Given the description of an element on the screen output the (x, y) to click on. 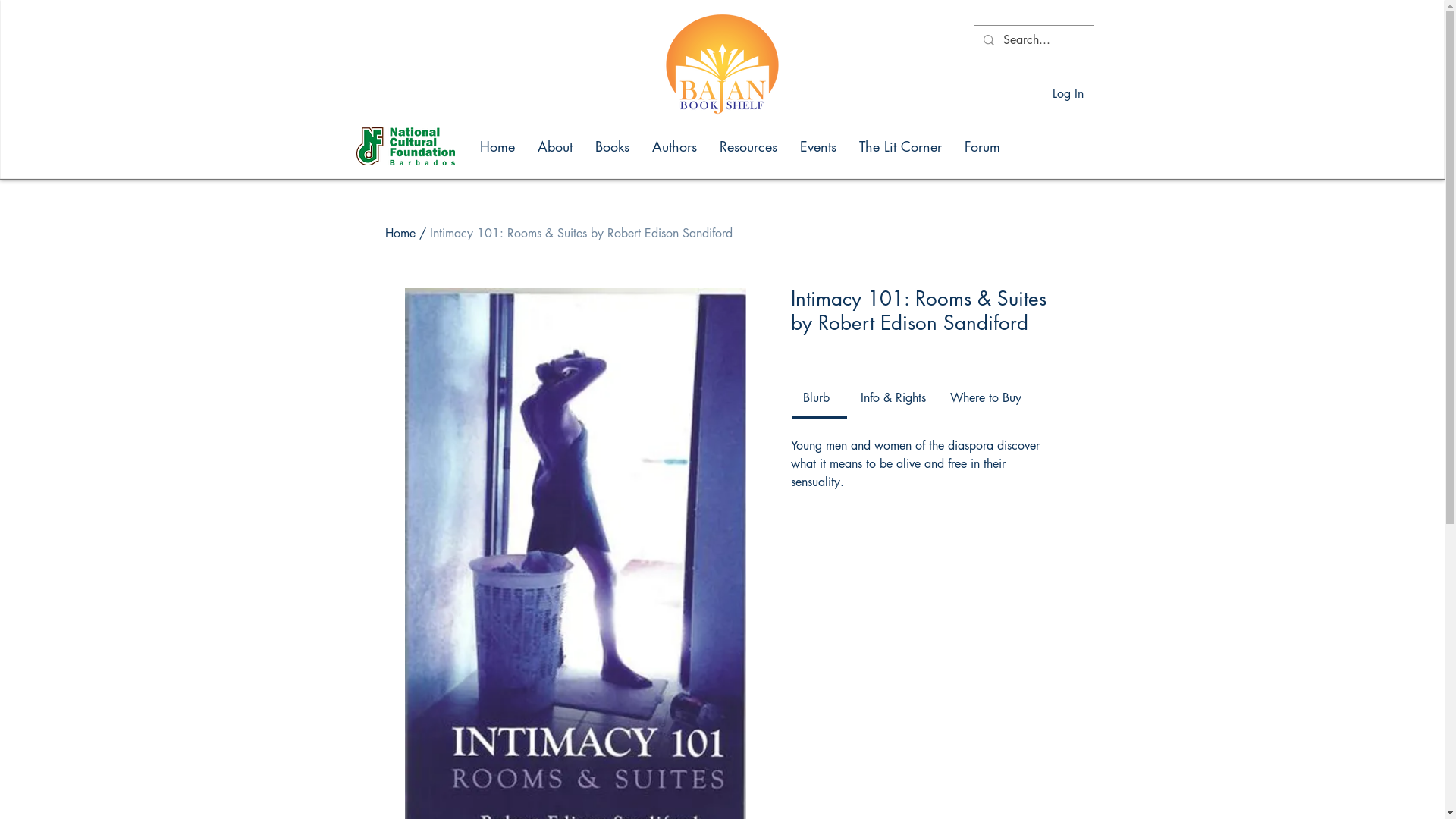
Events Element type: text (817, 146)
The Lit Corner Element type: text (900, 146)
Forum Element type: text (981, 146)
Log In Element type: text (1067, 93)
About Element type: text (554, 146)
Home Element type: text (497, 146)
Home Element type: text (400, 233)
Intimacy 101: Rooms & Suites by Robert Edison Sandiford Element type: text (580, 233)
